Given the description of an element on the screen output the (x, y) to click on. 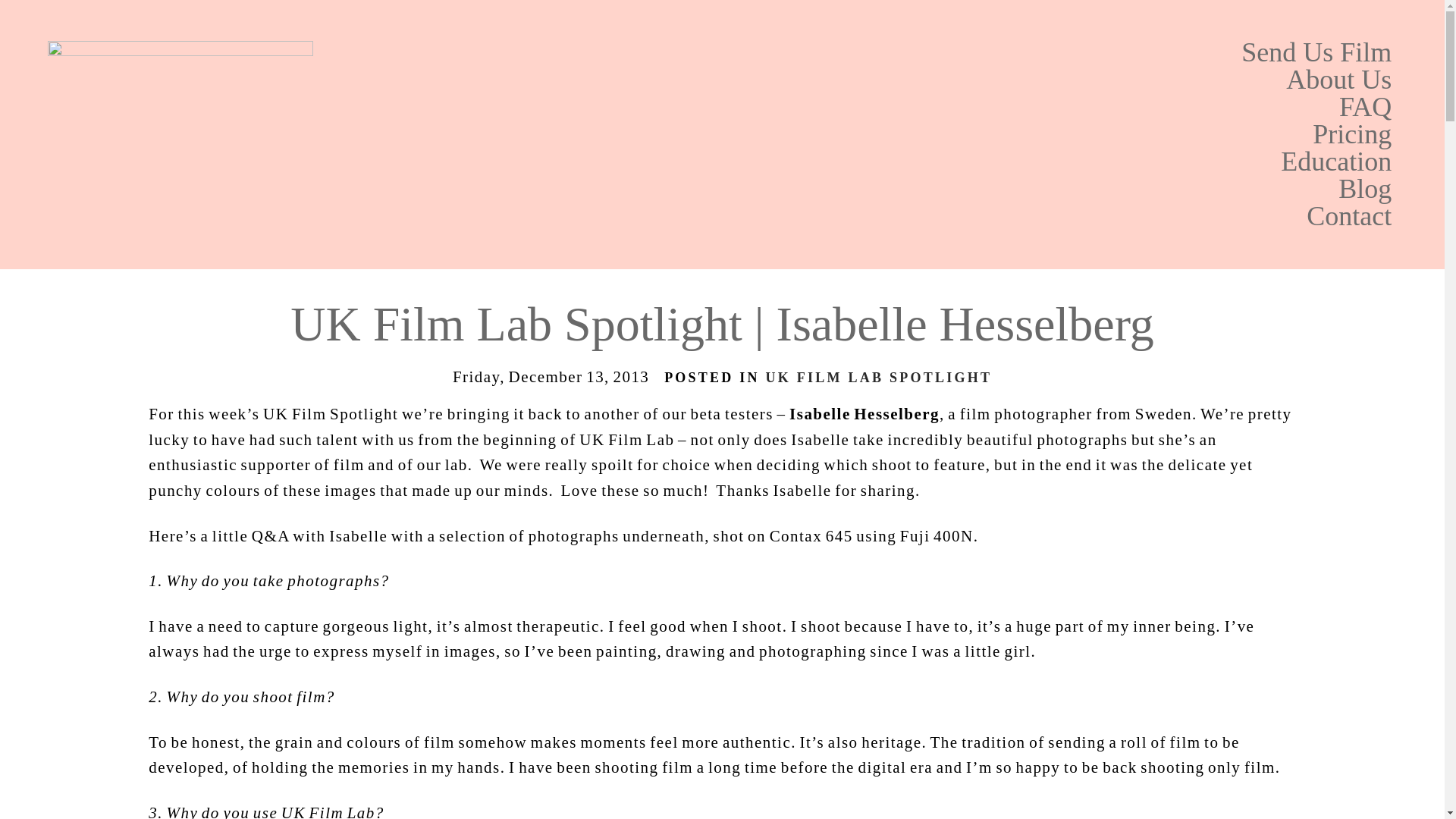
Send Us Film (896, 52)
Contact (896, 216)
Education (896, 161)
UK FILM LAB SPOTLIGHT (878, 377)
Isabelle Hesselberg (864, 413)
Blog (896, 188)
About Us (896, 79)
Isabelle Hesselberg (864, 413)
Pricing (896, 134)
FAQ (896, 106)
